Given the description of an element on the screen output the (x, y) to click on. 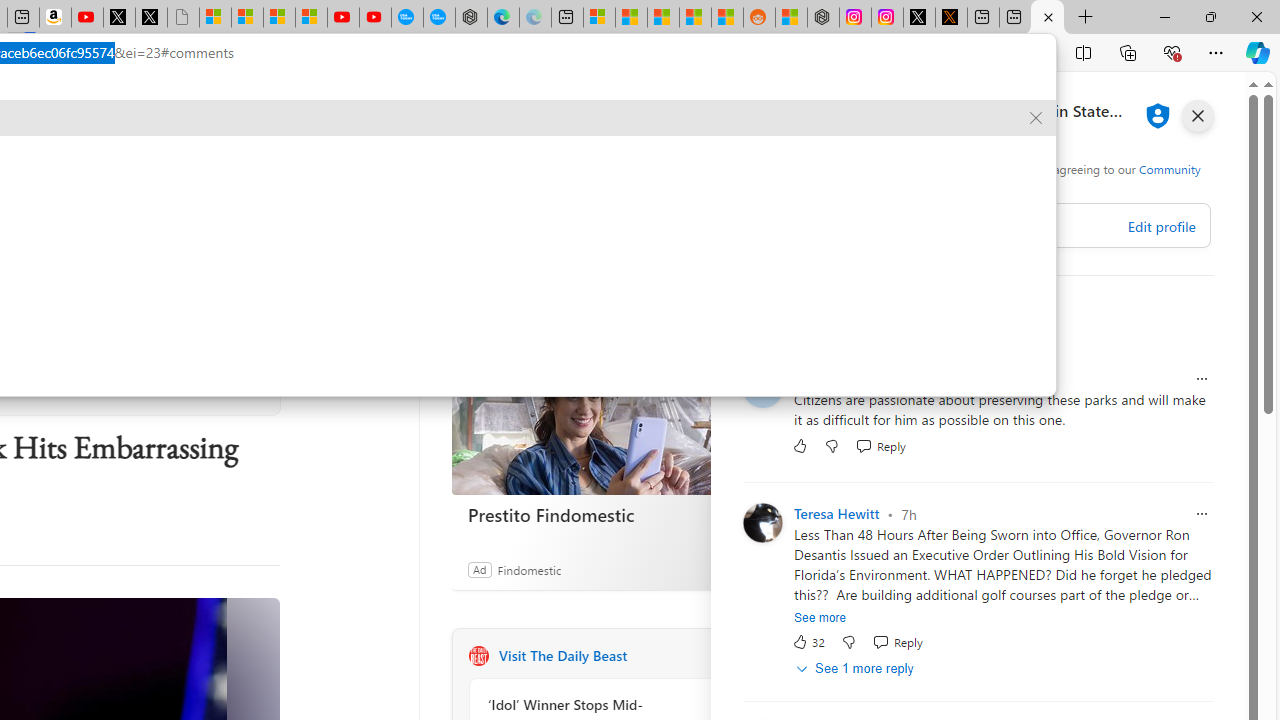
MMA / UFC (321, 162)
Prestito Findomestic (601, 515)
Findomestic (528, 569)
The most popular Google 'how to' searches (438, 17)
close (1197, 115)
Shanghai, China weather forecast | Microsoft Weather (630, 17)
Notifications (1176, 105)
Gloom - YouTube (343, 17)
X (151, 17)
NCAA BK (419, 162)
